Given the description of an element on the screen output the (x, y) to click on. 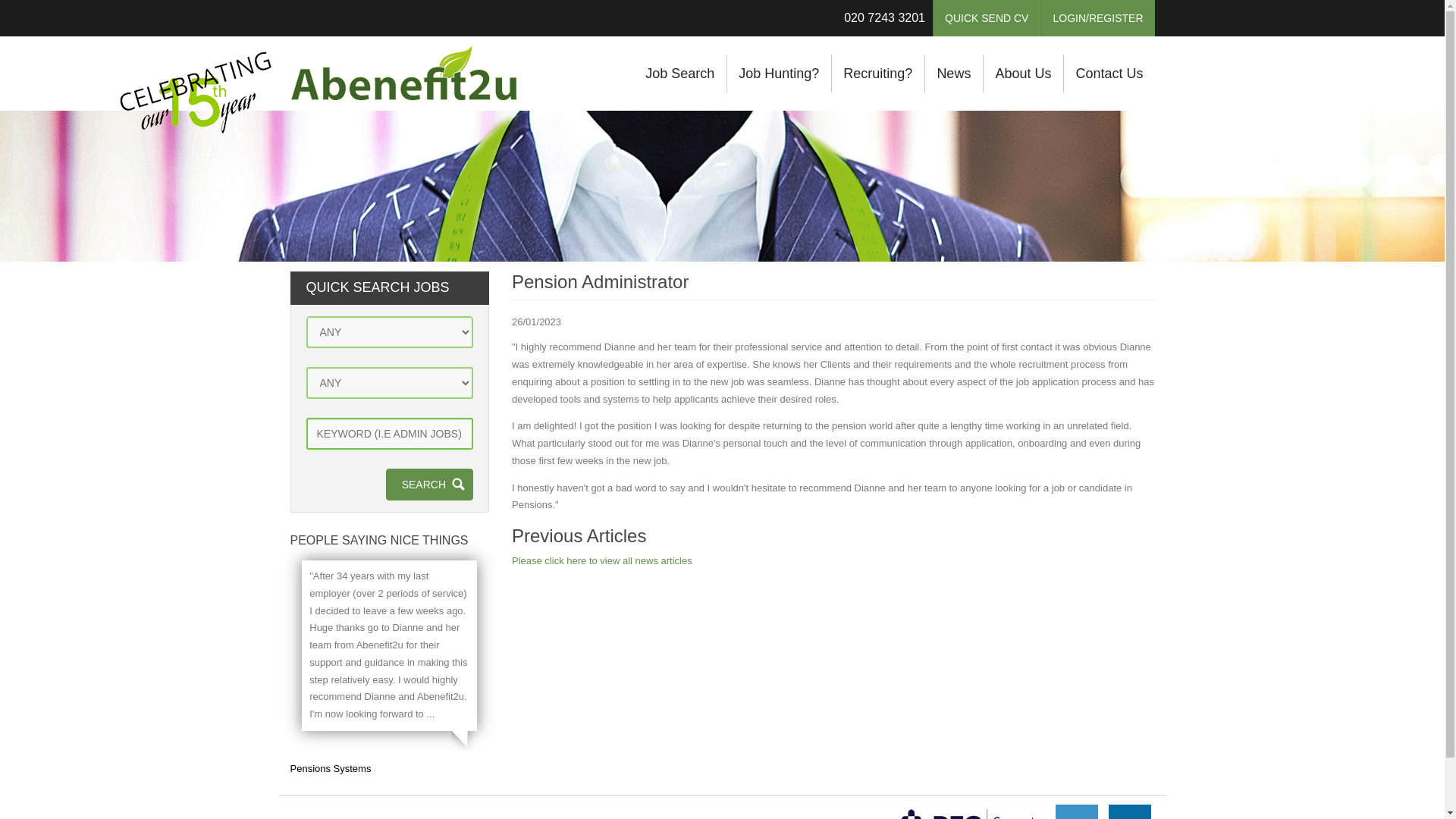
Contact Us (1108, 73)
Pensions Systems (330, 767)
Please click here to view all news articles (602, 560)
Search (429, 484)
About Us (1022, 73)
Job Hunting? (778, 73)
QUICK SEND CV (987, 18)
Recruiting? (877, 73)
REC Member (967, 810)
Job Search (679, 73)
in (1129, 811)
News (953, 73)
Pensions Systems (330, 767)
Search (429, 484)
Twitter (1076, 811)
